Given the description of an element on the screen output the (x, y) to click on. 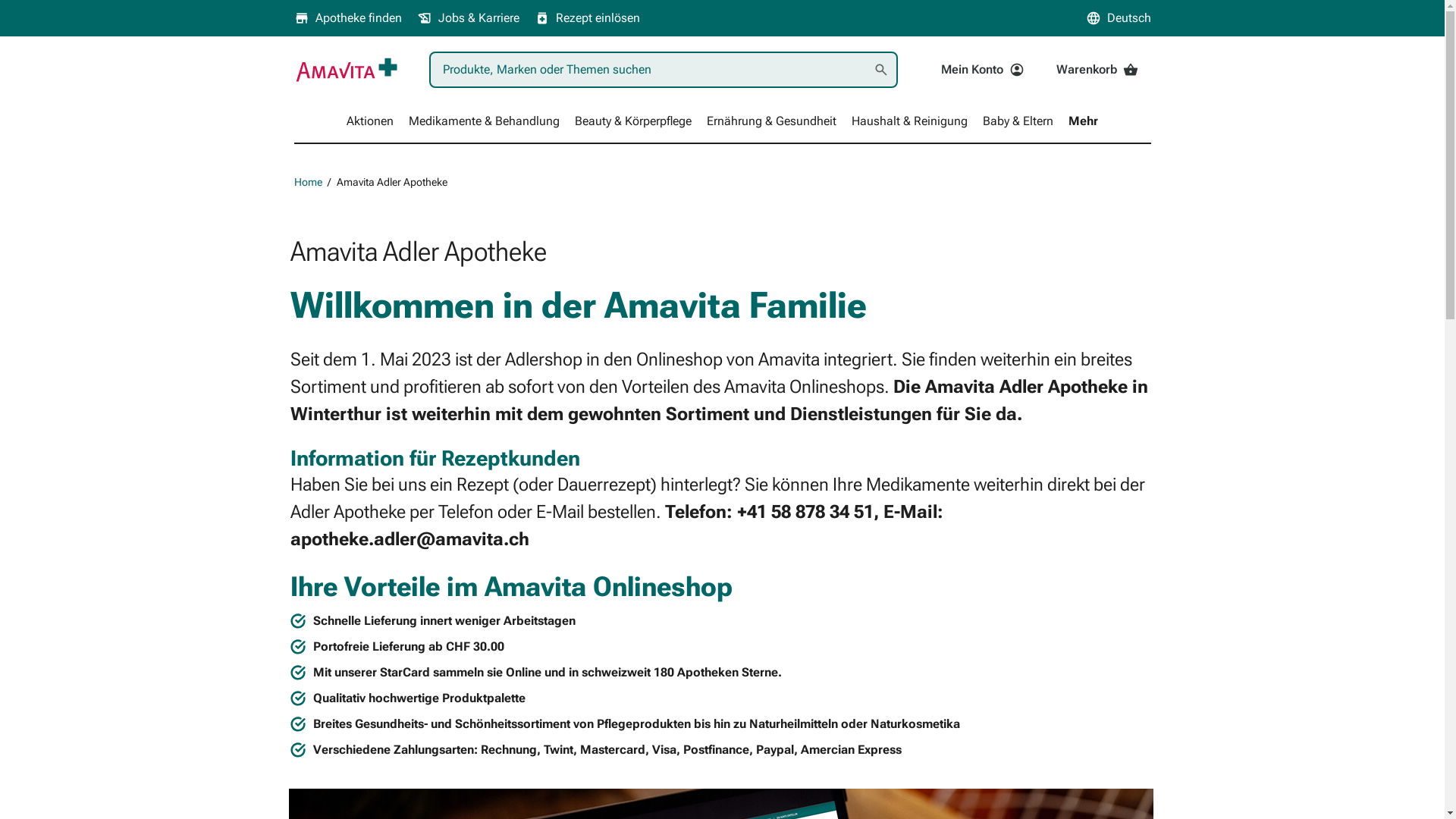
Aktionen Element type: text (369, 121)
Mein Konto Element type: text (982, 69)
Suche Element type: text (880, 69)
Medikamente & Behandlung Element type: text (484, 121)
Haushalt & Reinigung Element type: text (909, 121)
Amavita Apotheke E-Shop Element type: hover (346, 69)
Warenkorb Element type: text (1097, 69)
Home Element type: text (308, 182)
Jobs & Karriere Element type: text (468, 18)
Baby & Eltern Element type: text (1017, 121)
Apotheke finden Element type: text (347, 18)
